Given the description of an element on the screen output the (x, y) to click on. 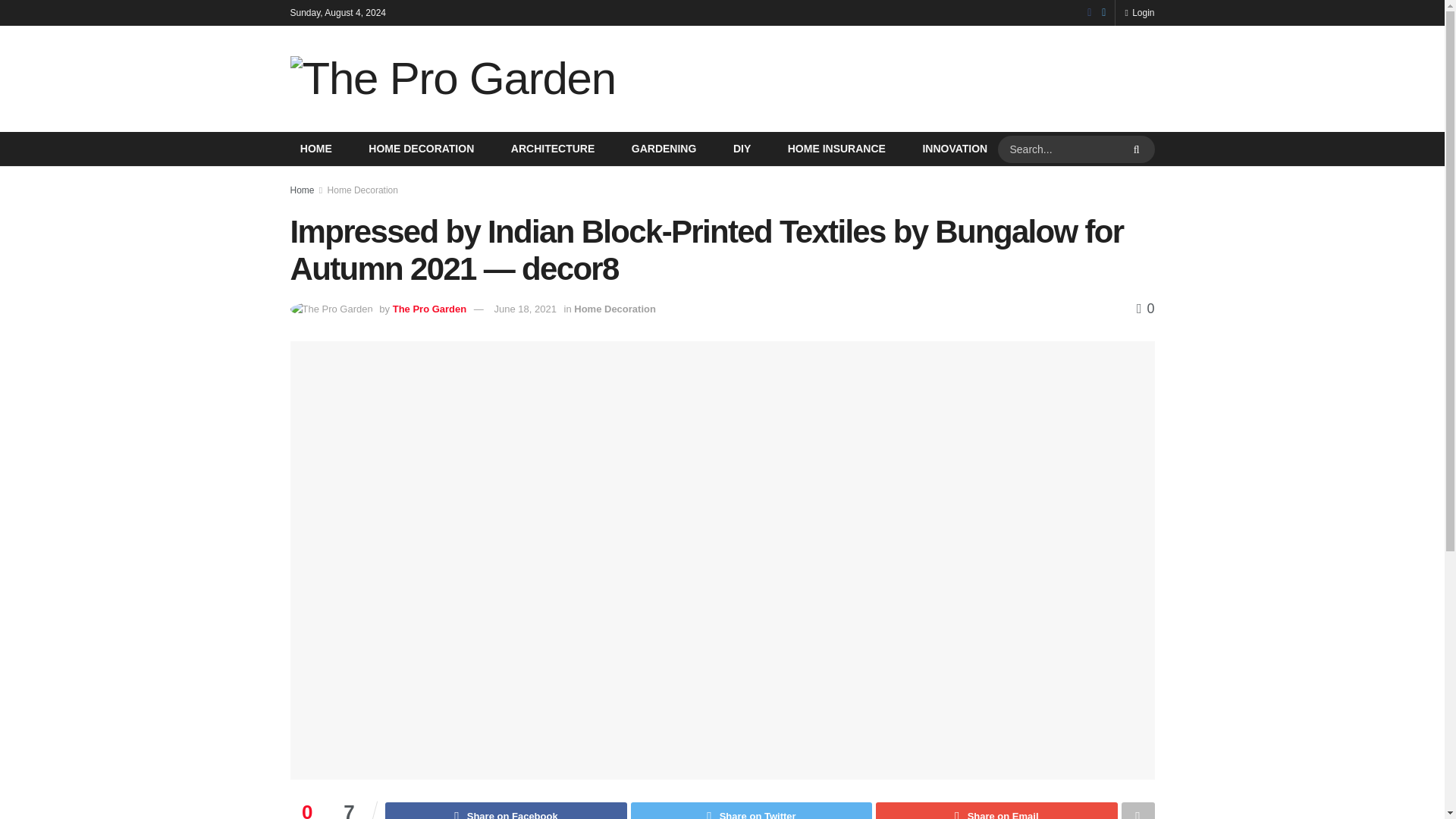
Home Decoration (362, 190)
Share on Twitter (751, 810)
GARDENING (664, 148)
Share on Facebook (505, 810)
Login (1139, 12)
DIY (742, 148)
Home Decoration (614, 308)
The Pro Garden (430, 308)
HOME (315, 148)
Home (301, 190)
0 (1145, 308)
HOME DECORATION (421, 148)
INNOVATION (954, 148)
Share on Email (996, 810)
ARCHITECTURE (552, 148)
